Given the description of an element on the screen output the (x, y) to click on. 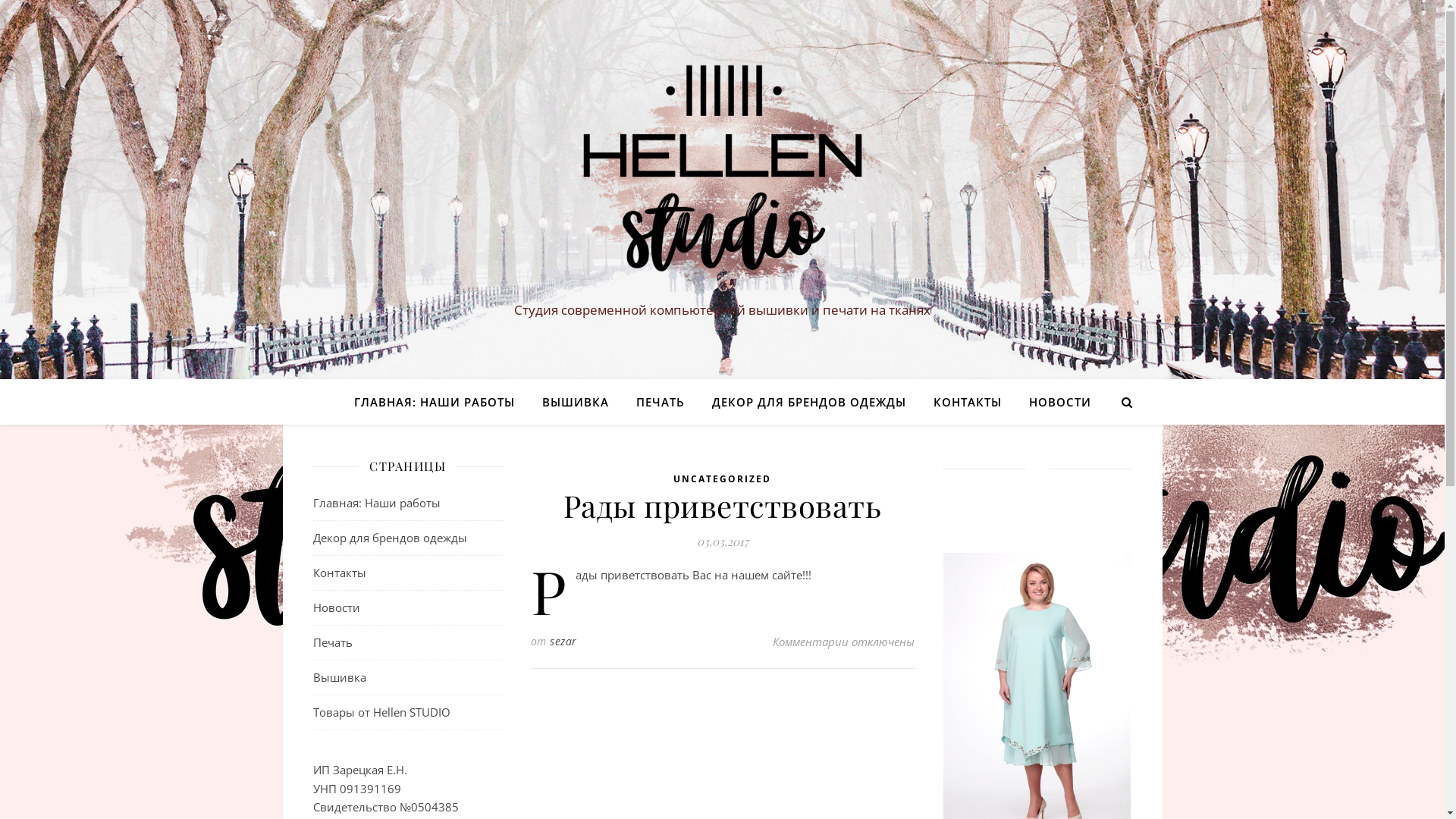
sezar Element type: text (563, 641)
UNCATEGORIZED Element type: text (722, 478)
Hellen STUDIO Element type: hover (721, 175)
